Given the description of an element on the screen output the (x, y) to click on. 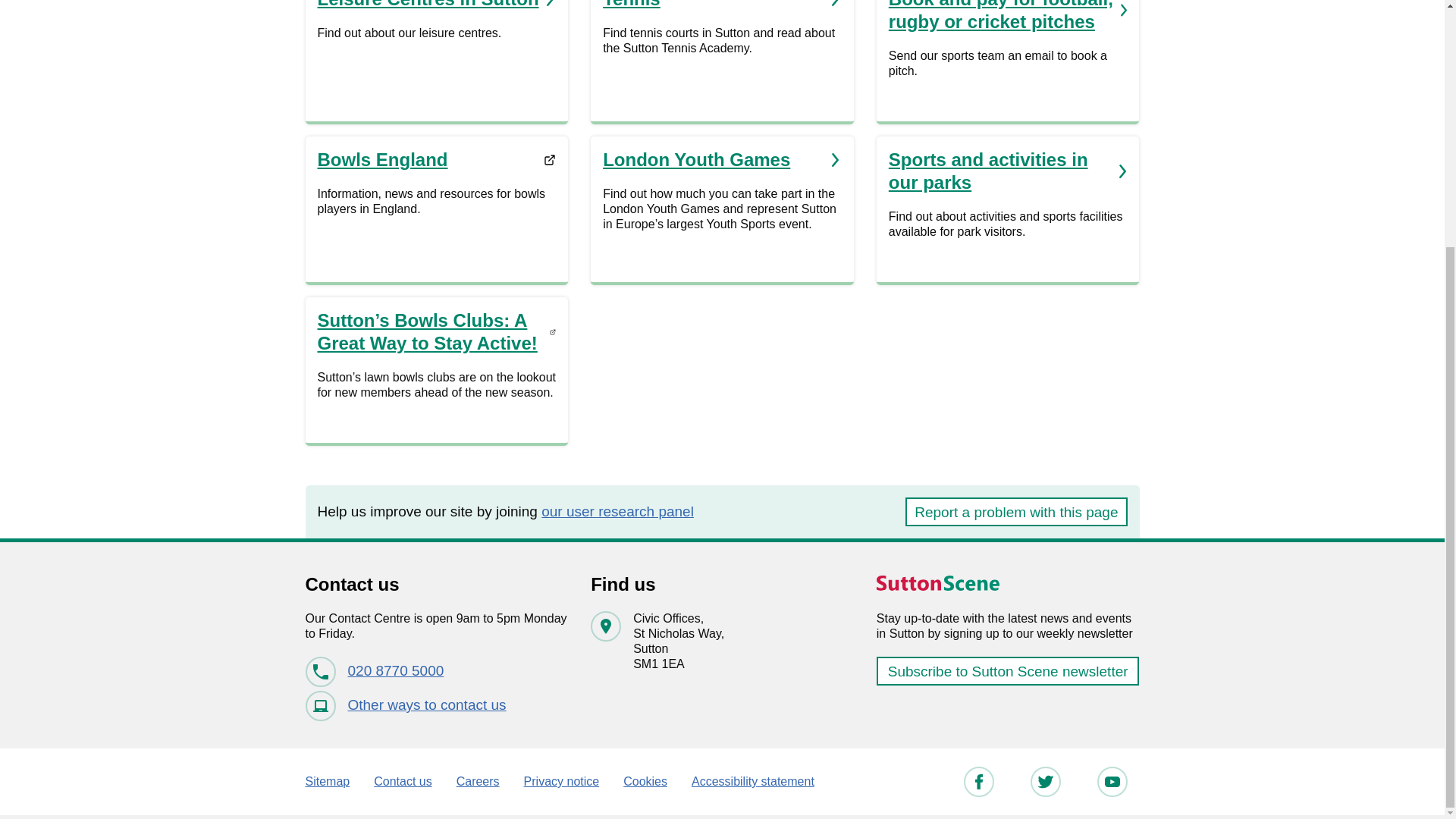
Email icon (320, 705)
Sitemap (326, 780)
Book and pay for football, rugby or cricket pitches (1007, 16)
Subscribe to Sutton Scene newsletter (1008, 670)
Sports and activities in our parks (1007, 171)
Tennis (721, 5)
London Youth Games (721, 159)
Bowls England (1111, 781)
Leisure Centres in Sutton (977, 781)
Accessibility statement (436, 159)
Phone icon (436, 5)
Twitter logo (752, 780)
